Given the description of an element on the screen output the (x, y) to click on. 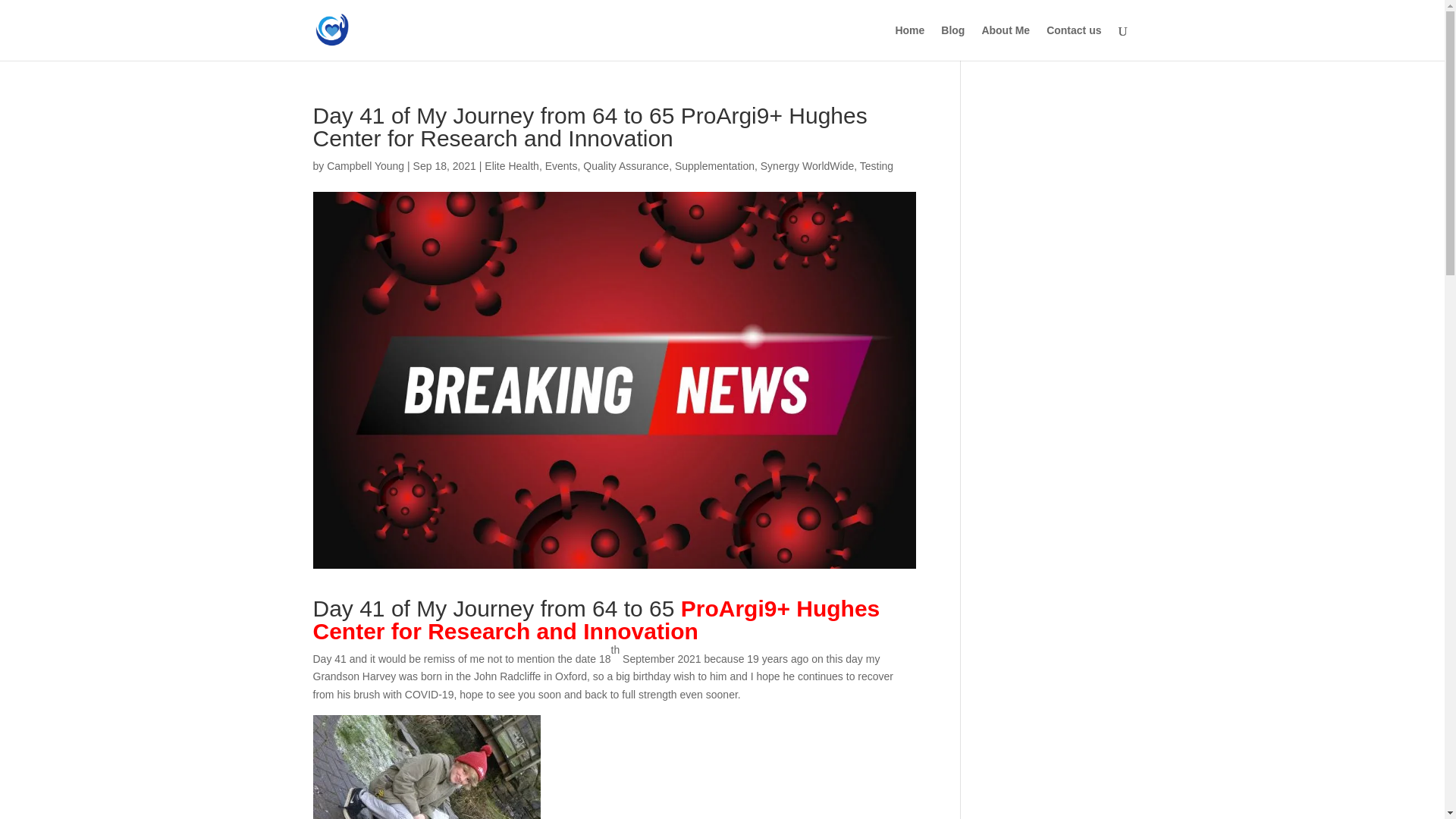
Events (561, 165)
Testing (876, 165)
Synergy WorldWide (806, 165)
About Me (1005, 42)
Campbell Young (365, 165)
Supplementation (714, 165)
Contact us (1073, 42)
Quality Assurance (625, 165)
Posts by Campbell Young (365, 165)
Elite Health (511, 165)
